Given the description of an element on the screen output the (x, y) to click on. 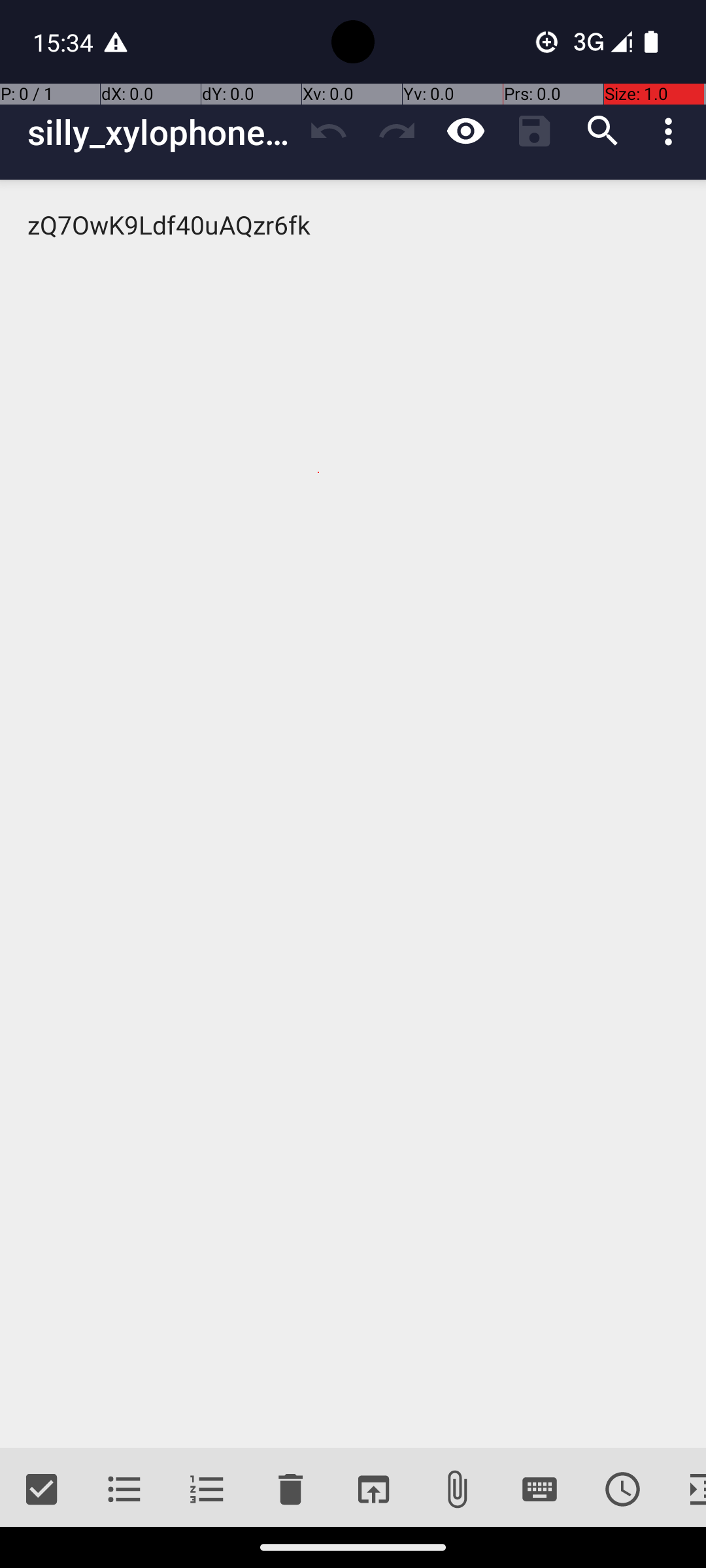
silly_xylophone_WGSm Element type: android.widget.TextView (160, 131)
zQ7OwK9Ldf40uAQzr6fk
 Element type: android.widget.EditText (353, 813)
Ordered list Element type: android.widget.ImageView (207, 1488)
Indent Element type: android.widget.ImageView (685, 1488)
